Given the description of an element on the screen output the (x, y) to click on. 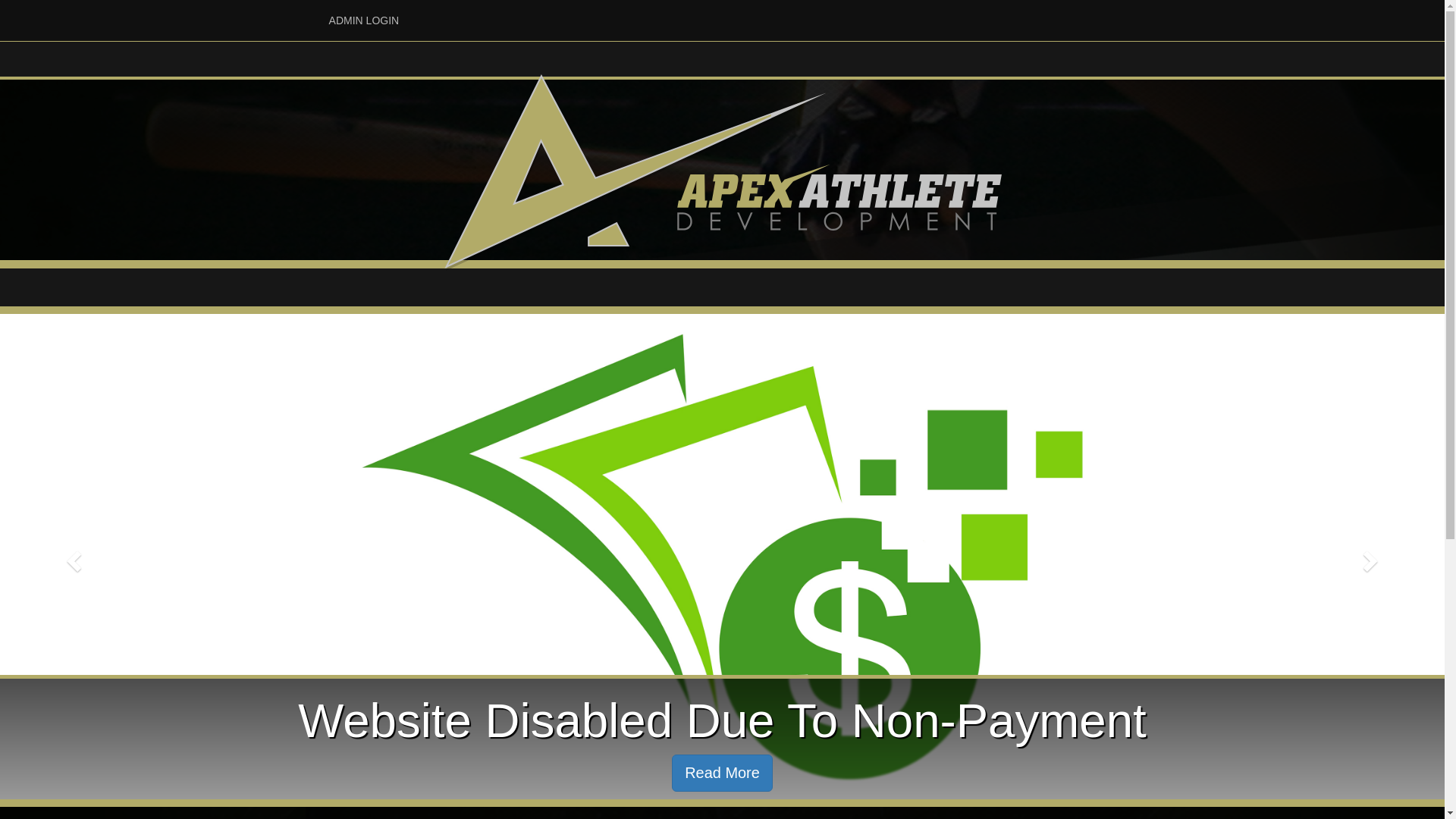
Read More Element type: text (721, 772)
Next Element type: text (1371, 555)
Previous Element type: text (72, 555)
 ADMIN LOGIN
ADMIN LOGIN Element type: text (362, 20)
